Given the description of an element on the screen output the (x, y) to click on. 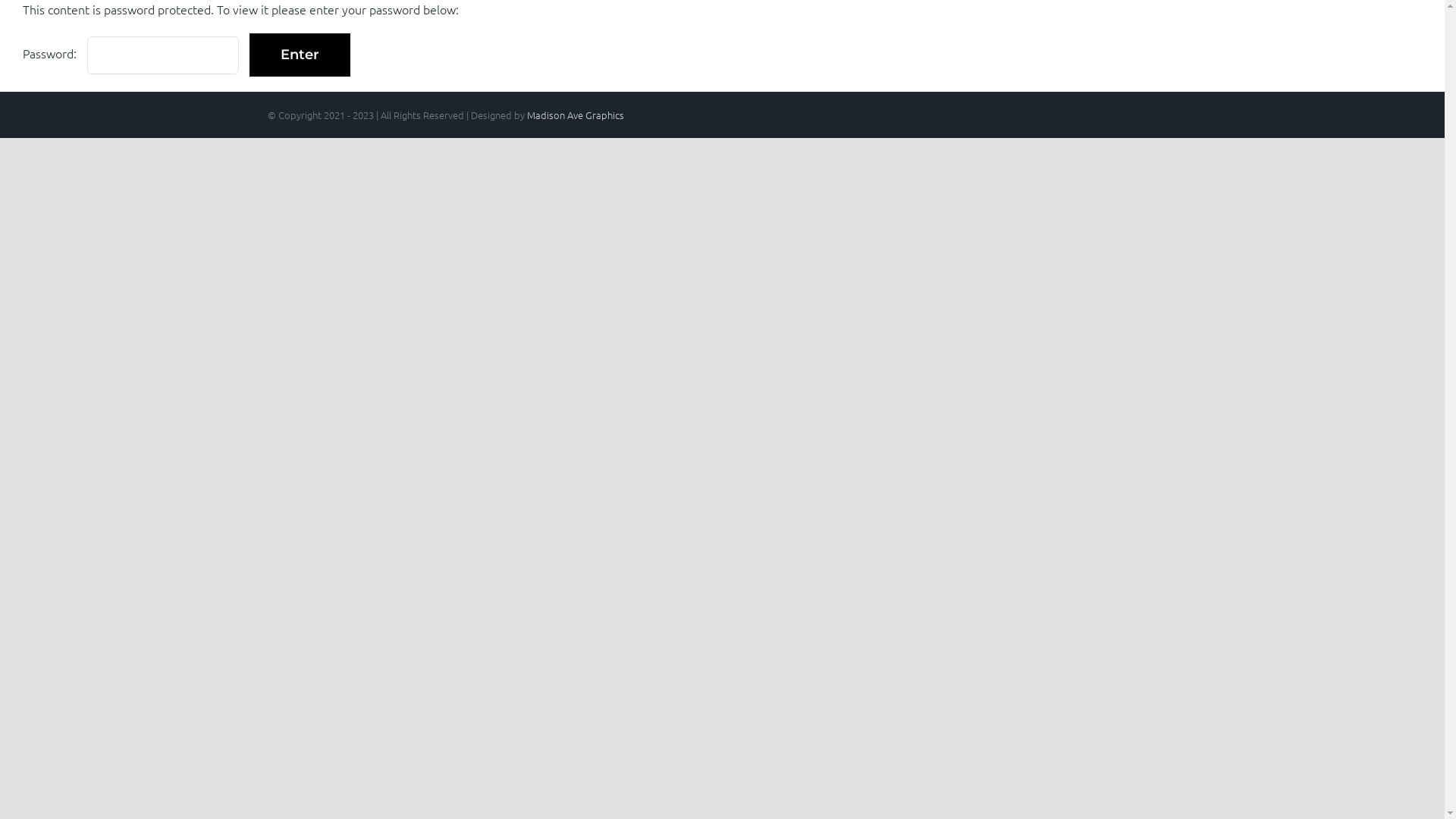
Enter Element type: text (299, 54)
Madison Ave Graphics Element type: text (574, 114)
